Given the description of an element on the screen output the (x, y) to click on. 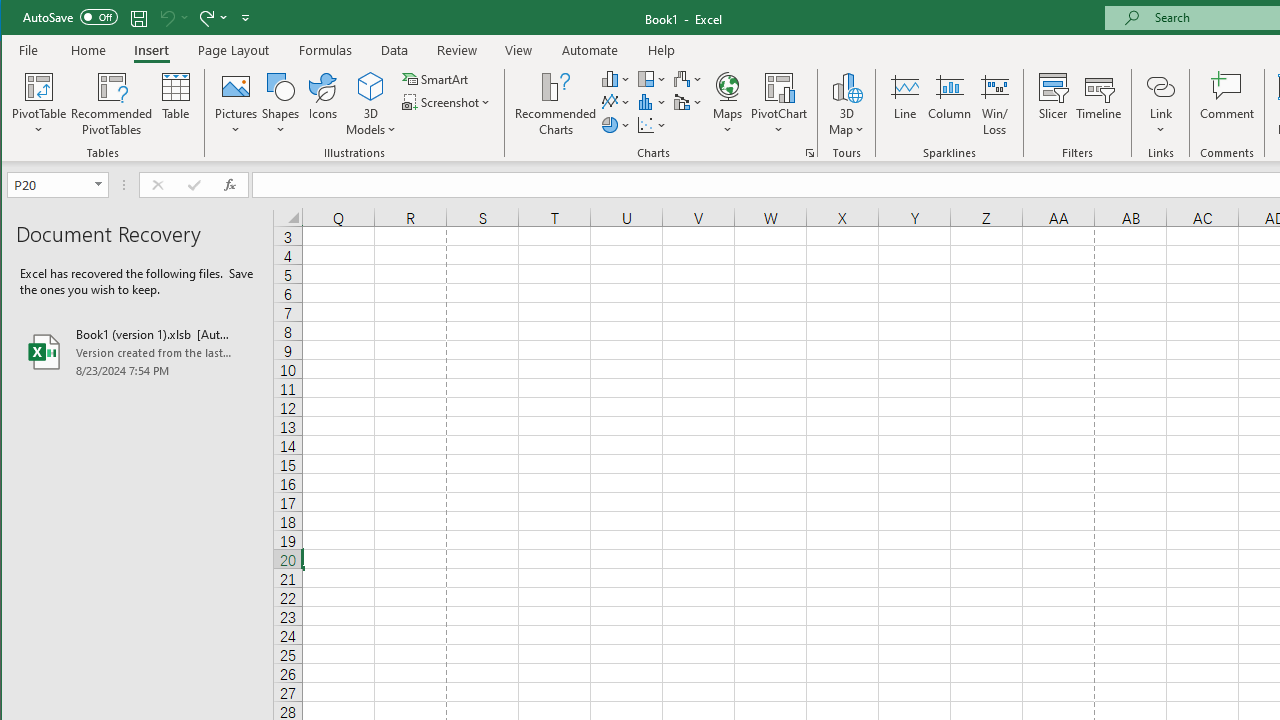
Insert Column or Bar Chart (616, 78)
Line (904, 104)
3D Models (371, 86)
Timeline (1098, 104)
Insert Scatter (X, Y) or Bubble Chart (652, 124)
PivotChart (779, 86)
